Given the description of an element on the screen output the (x, y) to click on. 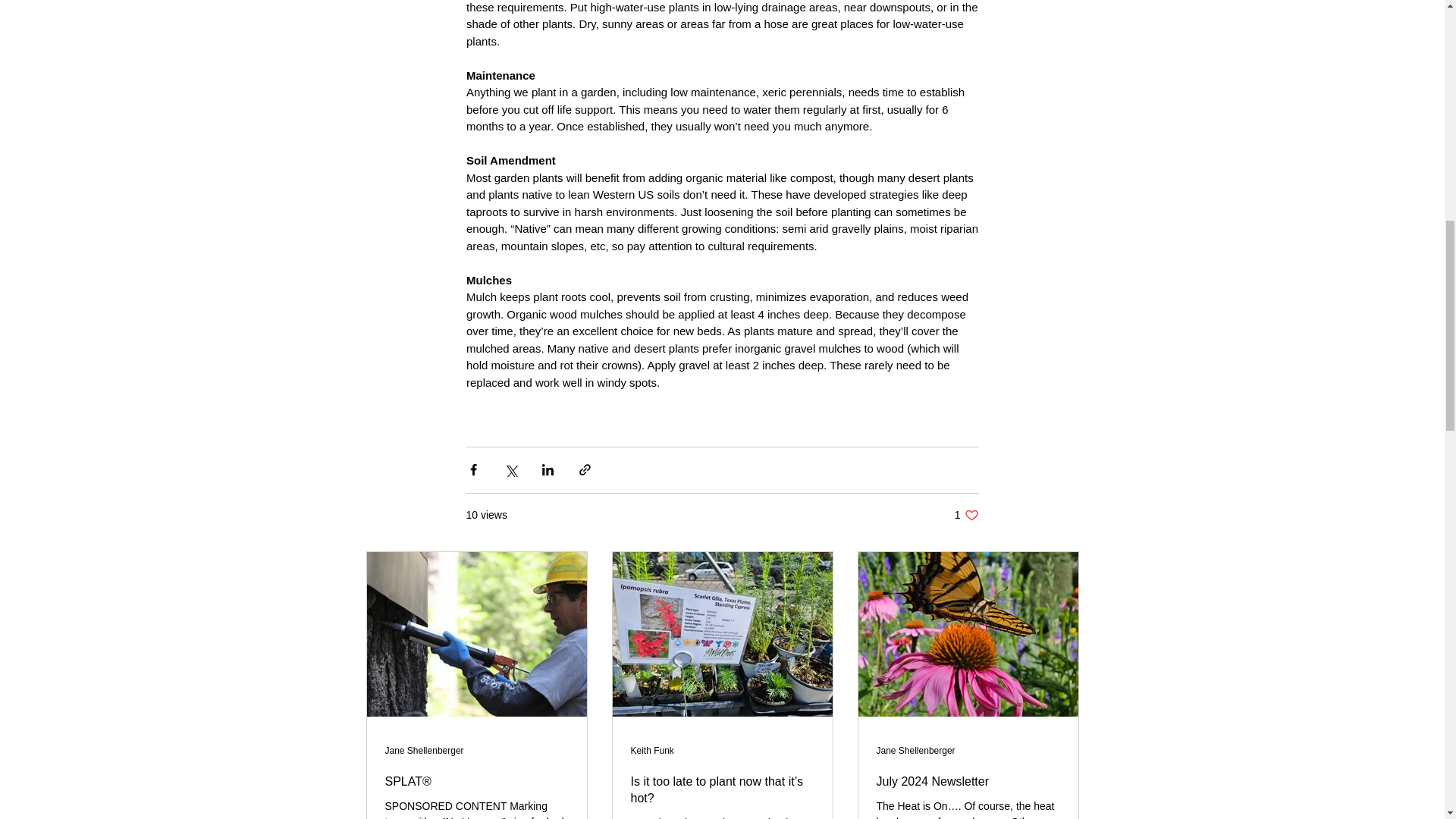
Jane Shellenberger (424, 749)
Keith Funk (652, 749)
July 2024 Newsletter (967, 781)
Jane Shellenberger (915, 749)
